Given the description of an element on the screen output the (x, y) to click on. 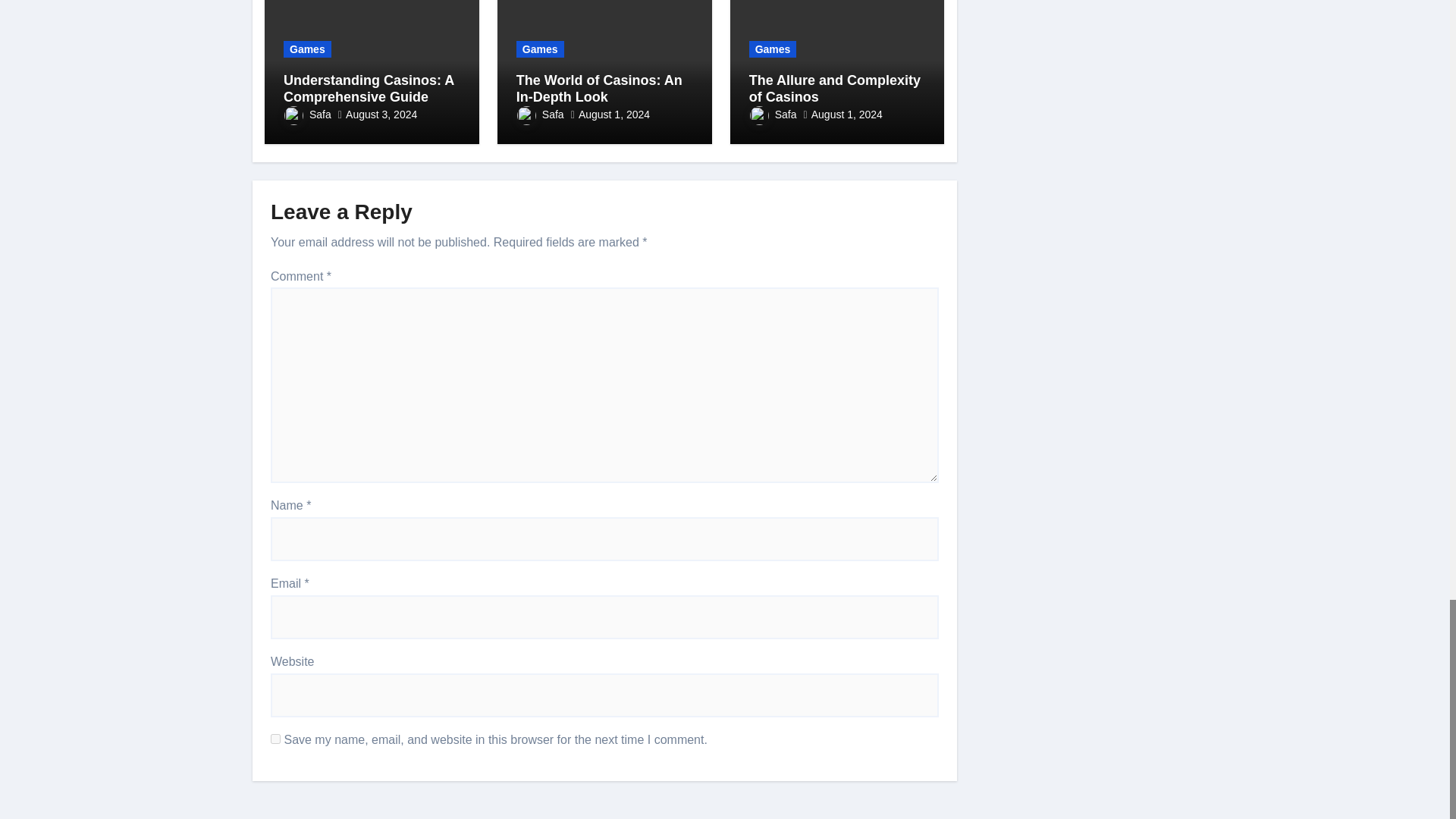
Permalink to: Understanding Casinos: A Comprehensive Guide (368, 88)
Permalink to: The World of Casinos: An In-Depth Look (599, 88)
Understanding Casinos: A Comprehensive Guide (368, 88)
yes (275, 738)
Games (307, 48)
Permalink to: The Allure and Complexity of Casinos (834, 88)
